Given the description of an element on the screen output the (x, y) to click on. 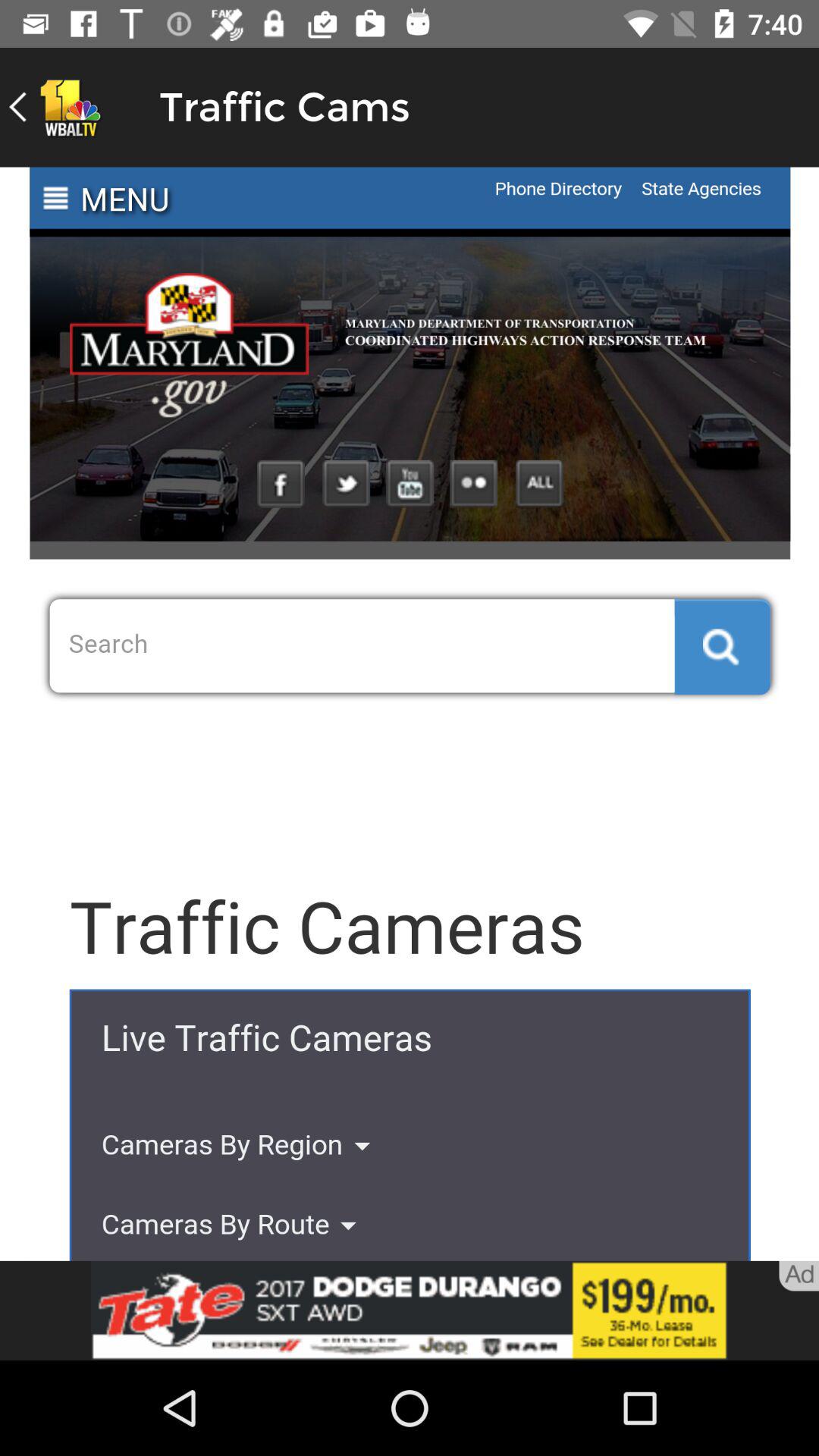
open advertisement (409, 1310)
